Given the description of an element on the screen output the (x, y) to click on. 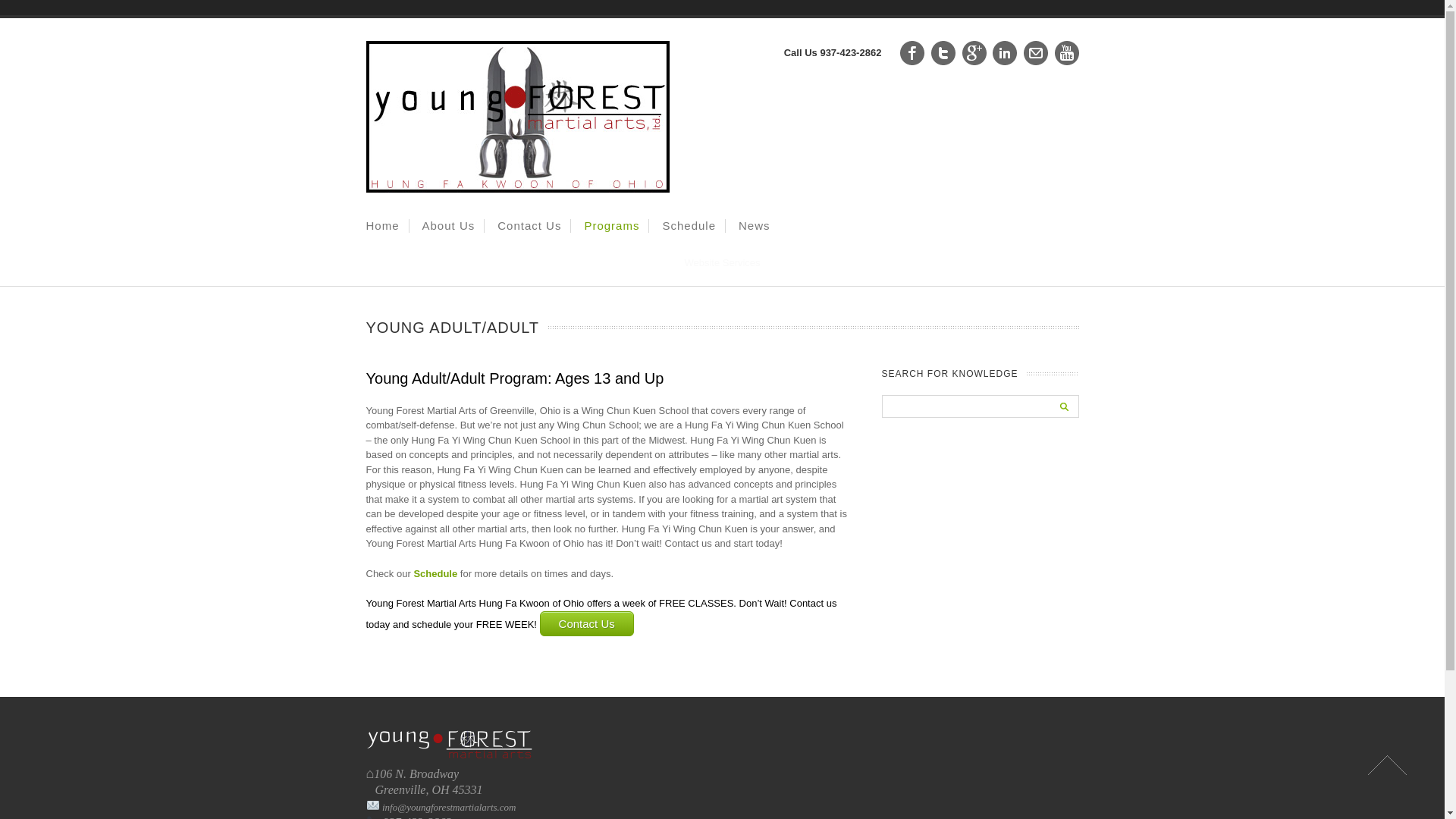
Programs (611, 225)
Googleplus (974, 52)
   Greenville, OH 45331 (423, 789)
Young Forest Martial Arts Class Schedule (435, 572)
About Us (449, 225)
Website Services (722, 262)
Facebook (911, 52)
Twitter (943, 52)
Youtube (1066, 52)
Schedule (435, 572)
